Given the description of an element on the screen output the (x, y) to click on. 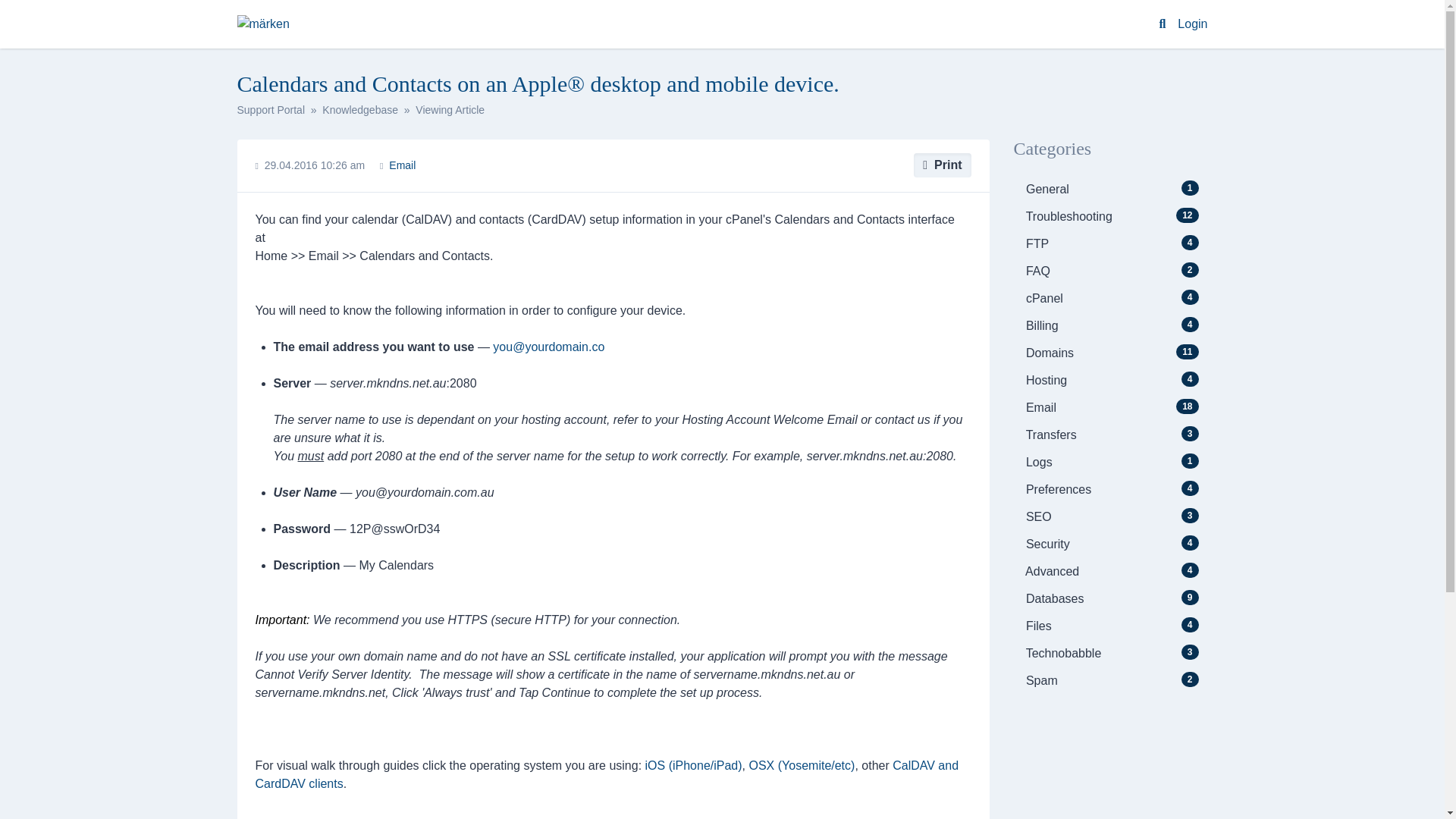
CalDAV and CardDAV clients (1110, 271)
Knowledgebase (1110, 516)
Support Portal (1110, 653)
Email (1110, 298)
Login (606, 774)
